Given the description of an element on the screen output the (x, y) to click on. 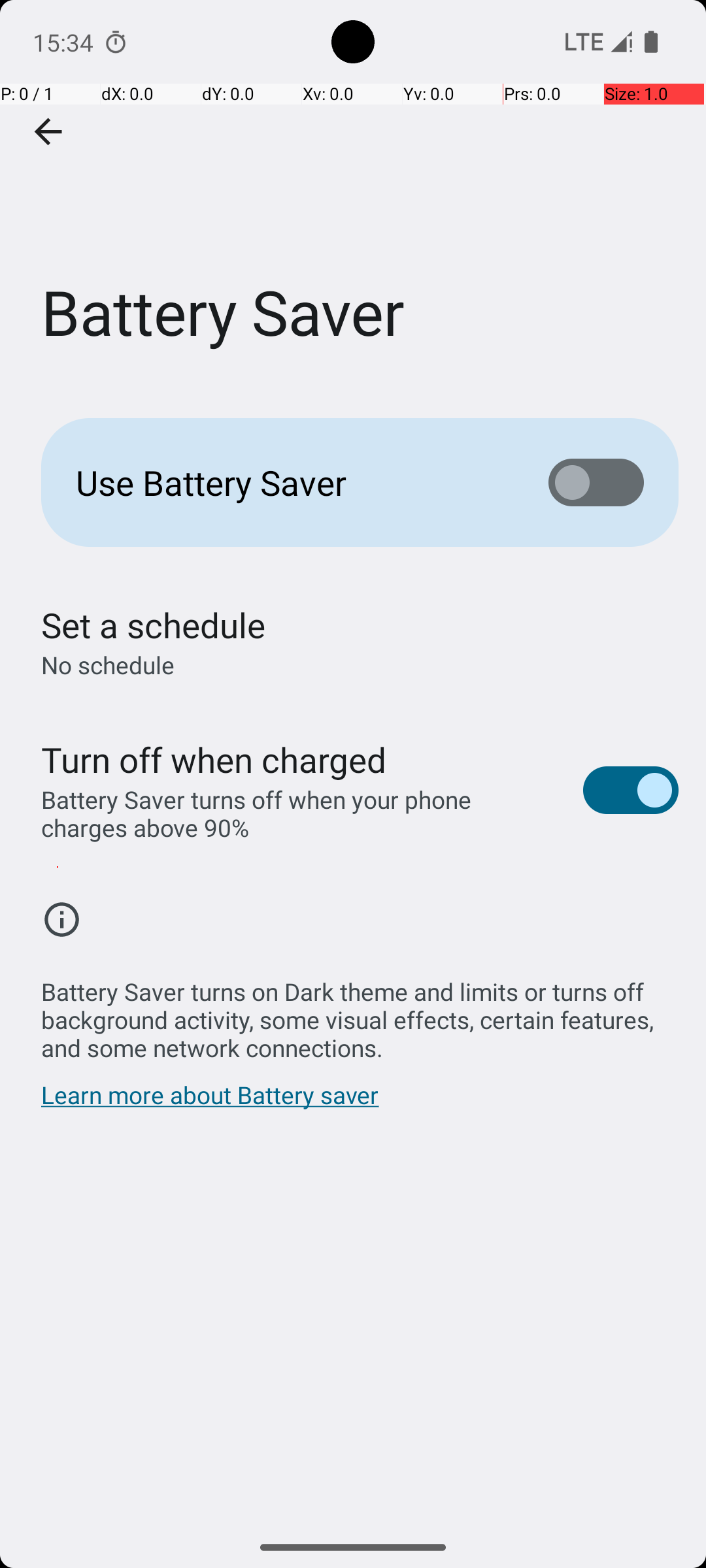
Use Battery Saver Element type: android.widget.TextView (291, 482)
Turn off when charged Element type: android.widget.TextView (213, 759)
Battery Saver turns off when your phone charges above 90% Element type: android.widget.TextView (298, 813)
Battery Saver turns on Dark theme and limits or turns off background activity, some visual effects, certain features, and some network connections. Element type: android.widget.TextView (359, 1012)
Learn more about Battery saver Element type: android.widget.TextView (210, 1101)
